Given the description of an element on the screen output the (x, y) to click on. 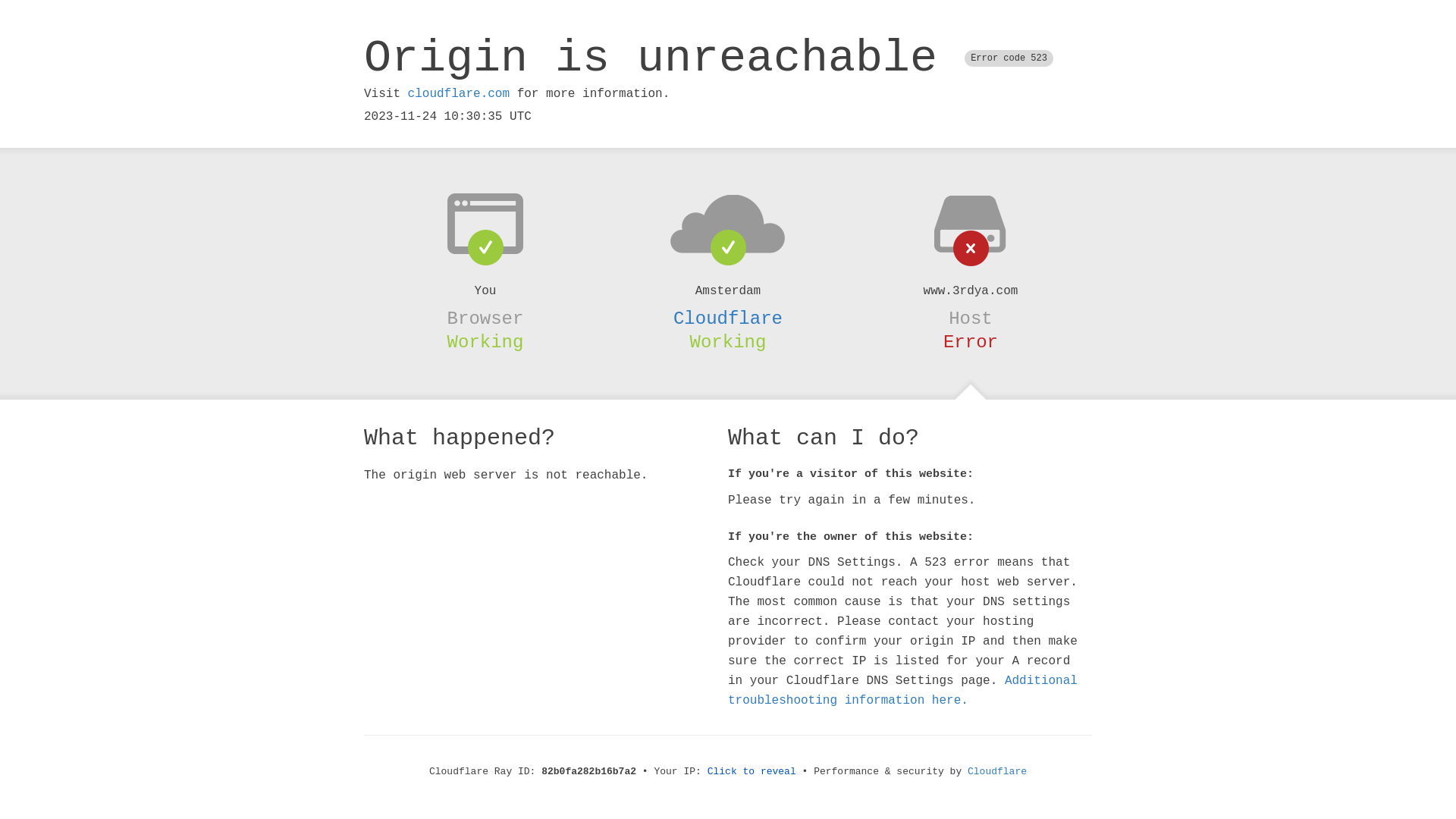
Click to reveal Element type: text (751, 771)
Cloudflare Element type: text (727, 318)
Additional troubleshooting information here. Element type: text (902, 690)
Cloudflare Element type: text (996, 771)
cloudflare.com Element type: text (458, 93)
